Given the description of an element on the screen output the (x, y) to click on. 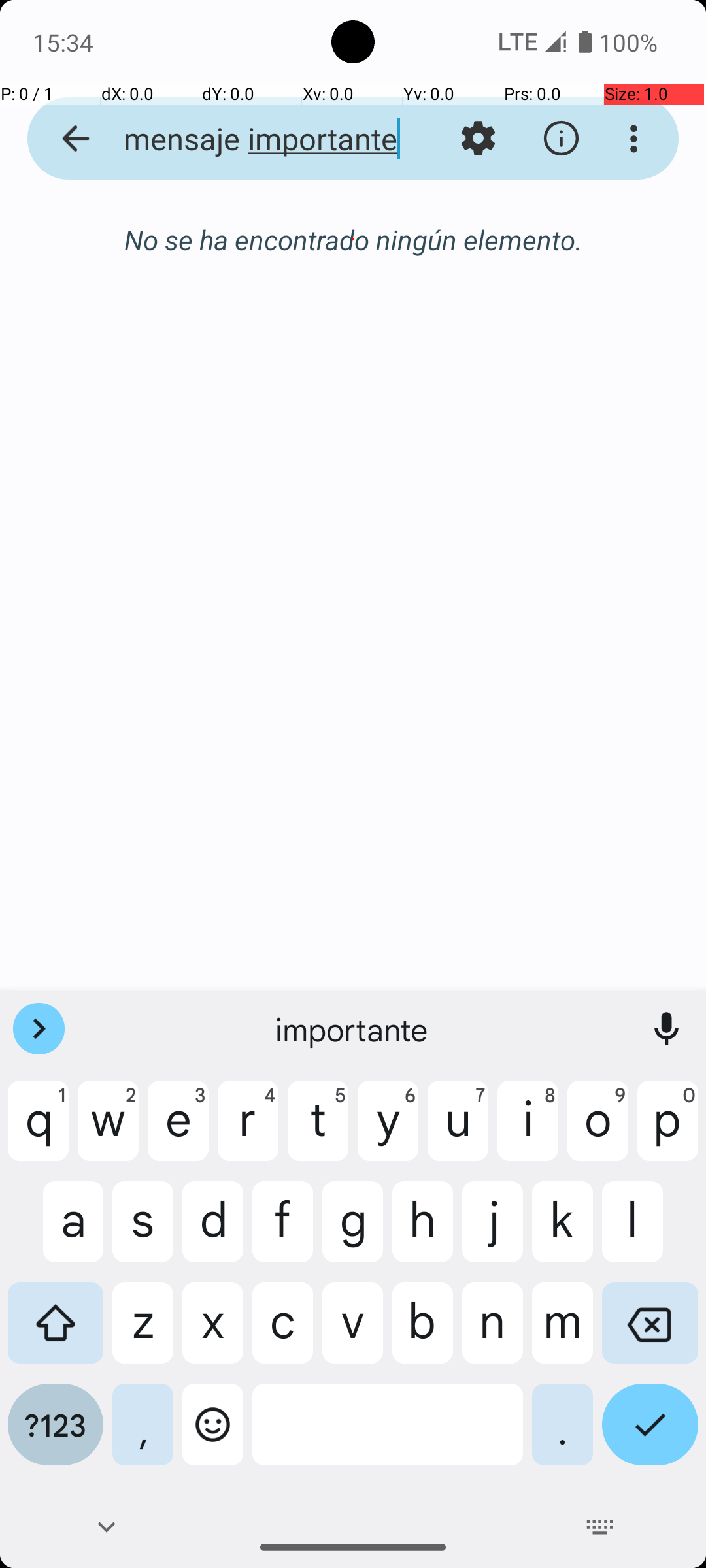
mensaje importante Element type: android.widget.EditText (252, 138)
No se han encontrado conversaciones Element type: android.widget.TextView (353, 246)
Inicia una conversación Element type: android.widget.TextView (352, 311)
importante Element type: android.widget.FrameLayout (352, 1028)
